Given the description of an element on the screen output the (x, y) to click on. 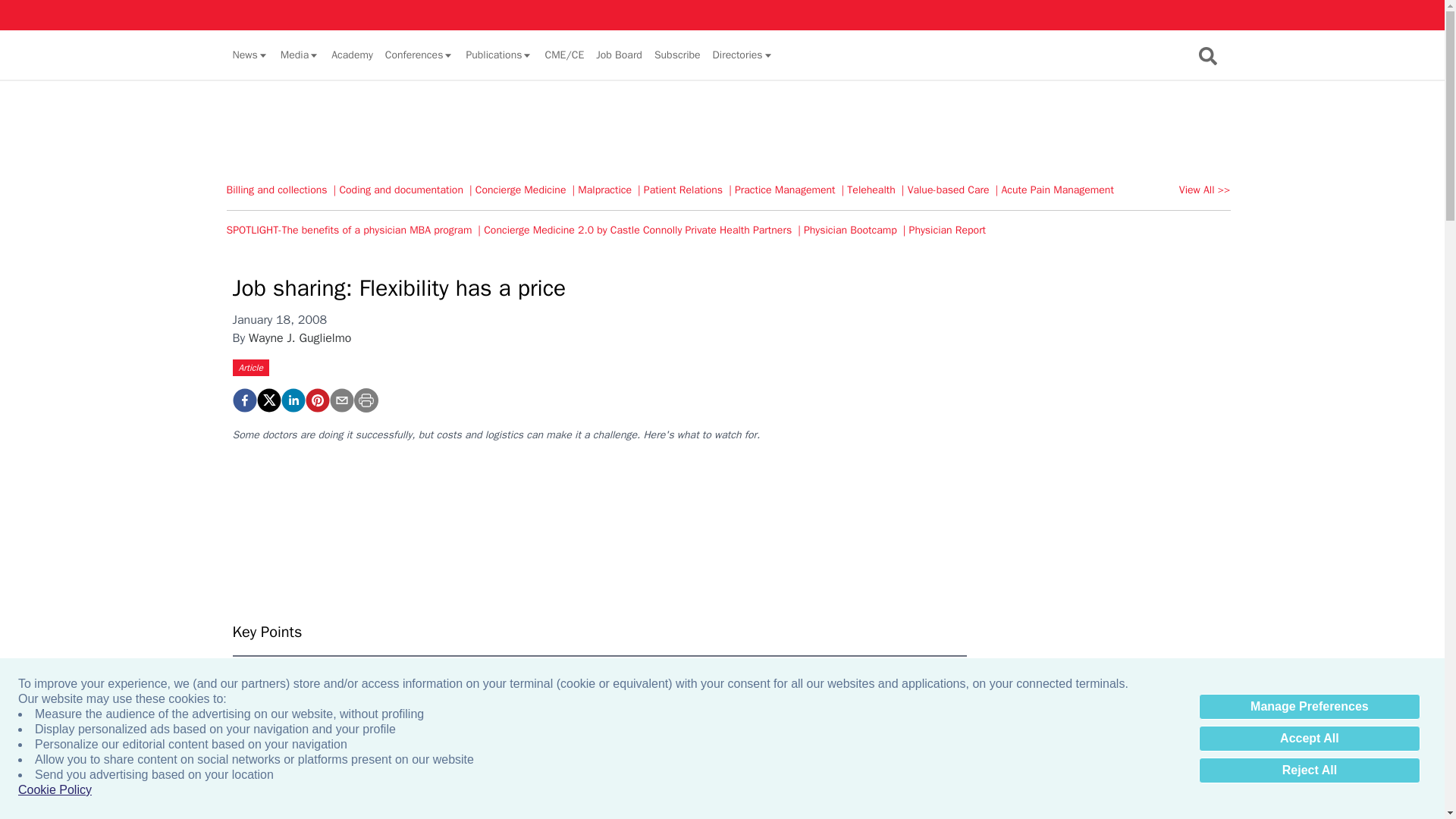
Subscribe (676, 54)
Reject All (1309, 769)
Job sharing: Flexibility has a price (316, 400)
Manage Preferences (1309, 706)
Academy (351, 54)
Job sharing: Flexibility has a price (243, 400)
Job Board (618, 54)
Accept All (1309, 738)
Cookie Policy (54, 789)
